Given the description of an element on the screen output the (x, y) to click on. 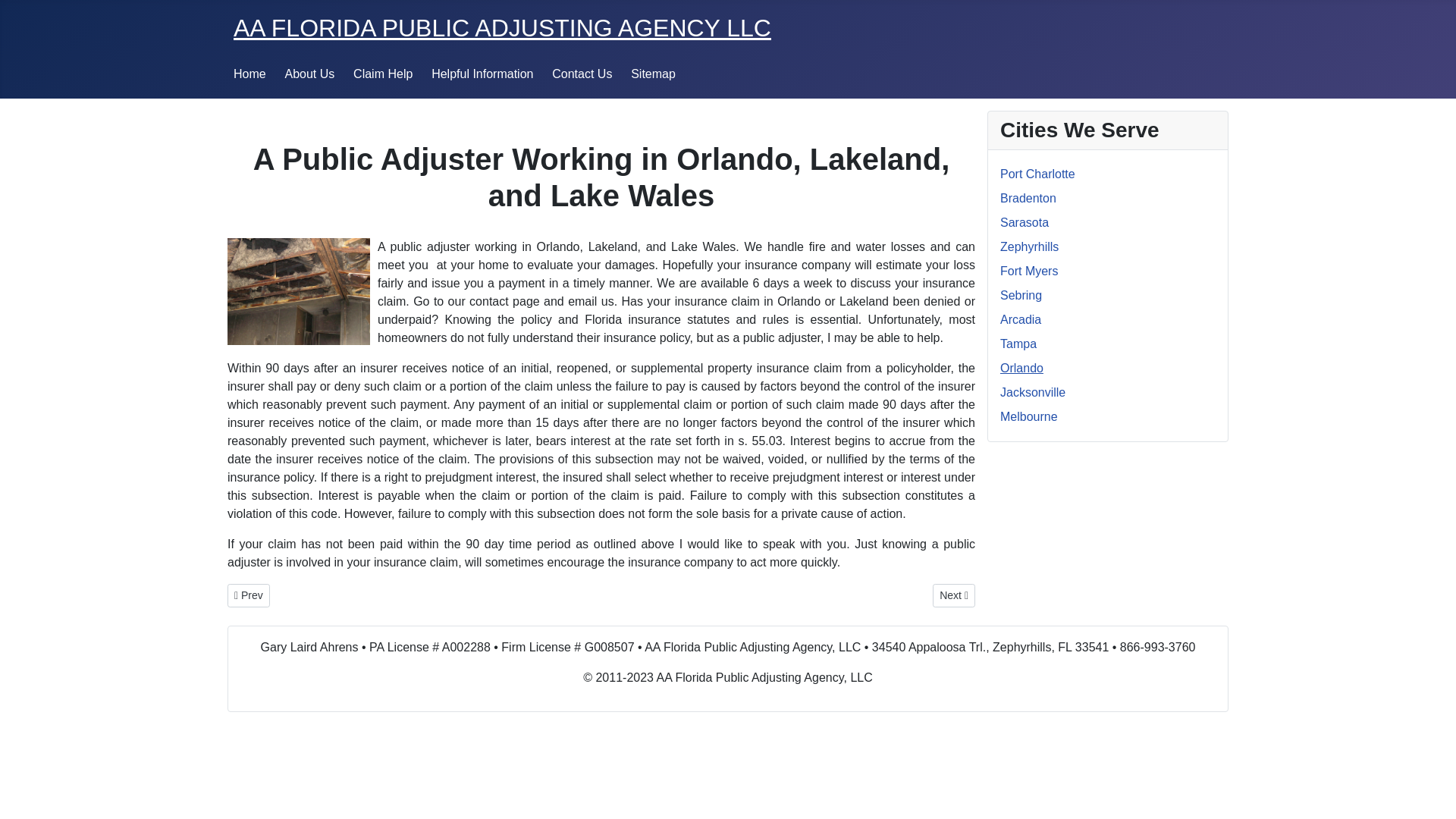
Port Charlotte (1037, 173)
Claim Help (382, 73)
Melbourne (1029, 416)
Bradenton (1028, 197)
Helpful Information (481, 73)
Contact Us (581, 73)
Orlando (1021, 367)
aafpaa (501, 27)
Tampa (1018, 343)
Sebring (1021, 295)
Sarasota (1024, 222)
Fort Myers (1029, 270)
Sitemap (652, 73)
Home (249, 73)
